Given the description of an element on the screen output the (x, y) to click on. 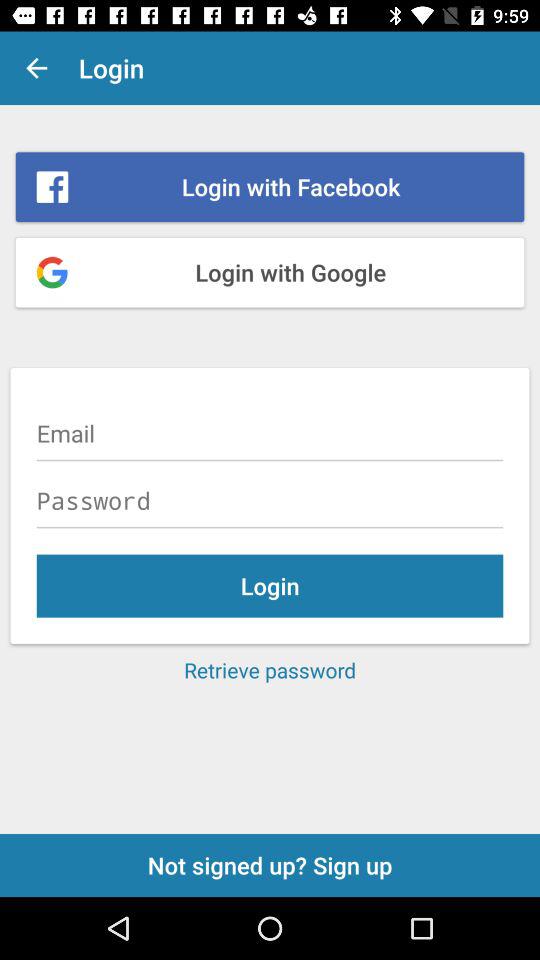
choose the item below login (269, 669)
